Given the description of an element on the screen output the (x, y) to click on. 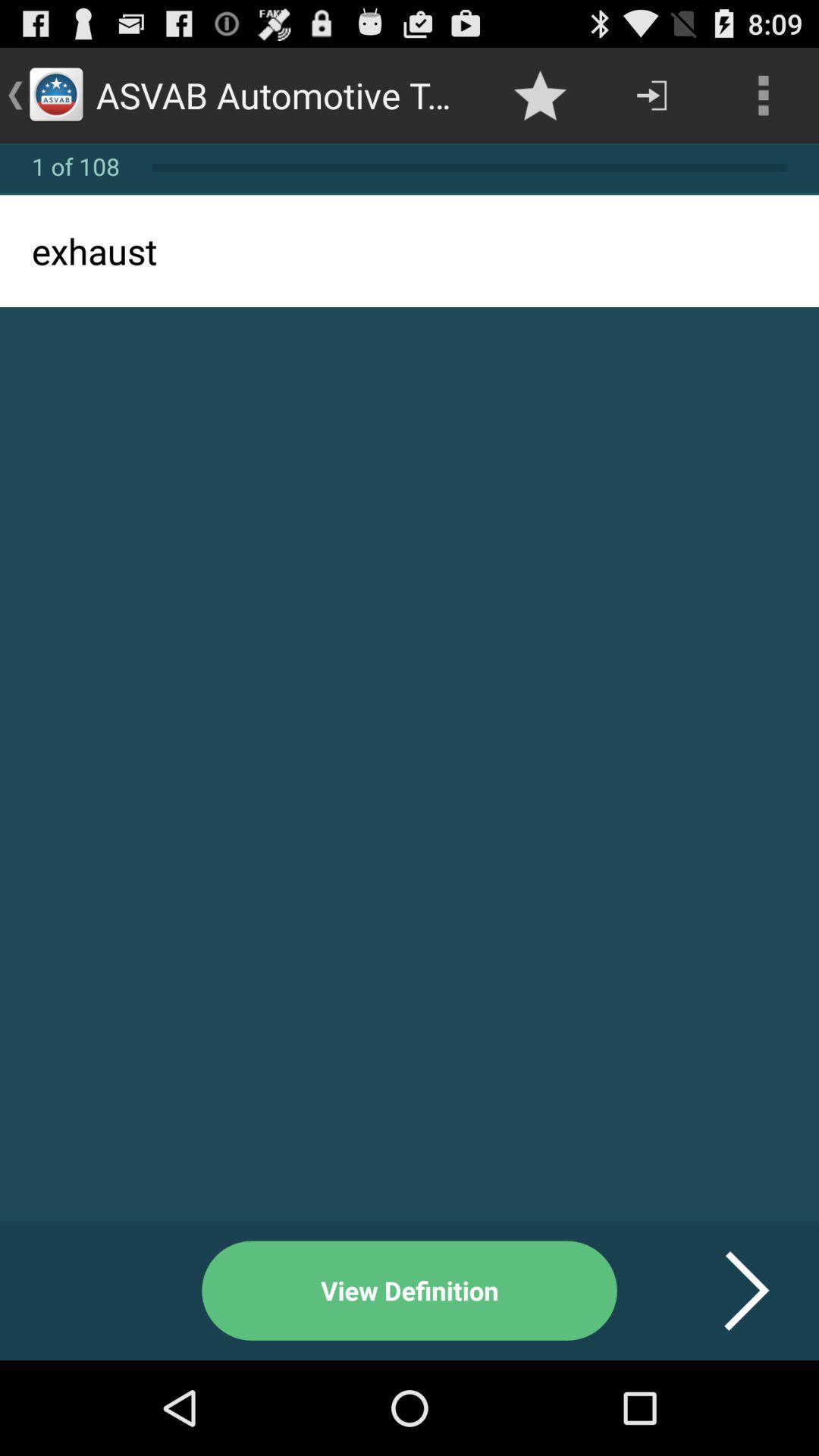
scroll until view definition item (409, 1290)
